Given the description of an element on the screen output the (x, y) to click on. 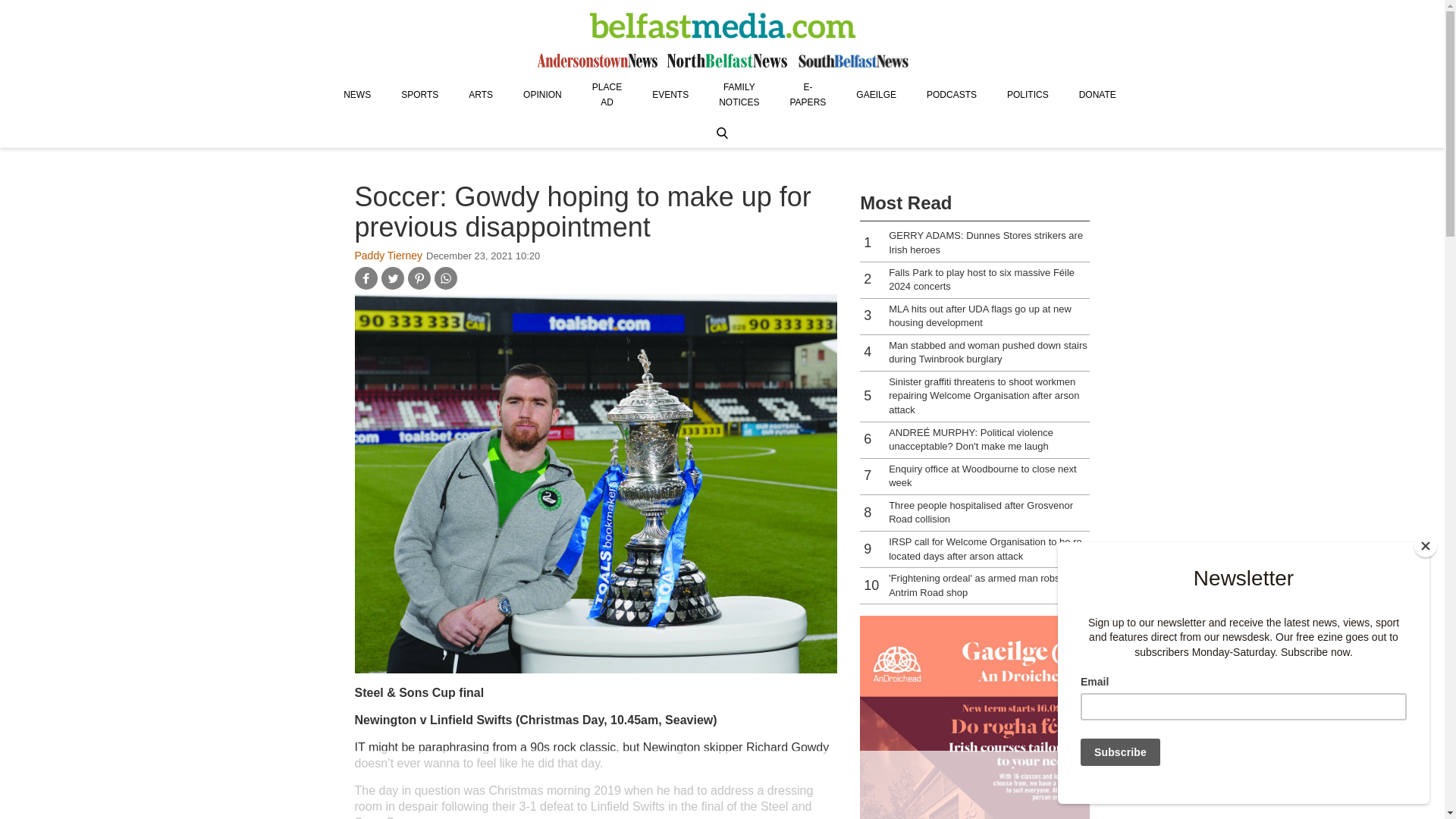
NEWS (357, 94)
OPINION (542, 94)
ARTS (480, 94)
SPORTS (418, 94)
